Given the description of an element on the screen output the (x, y) to click on. 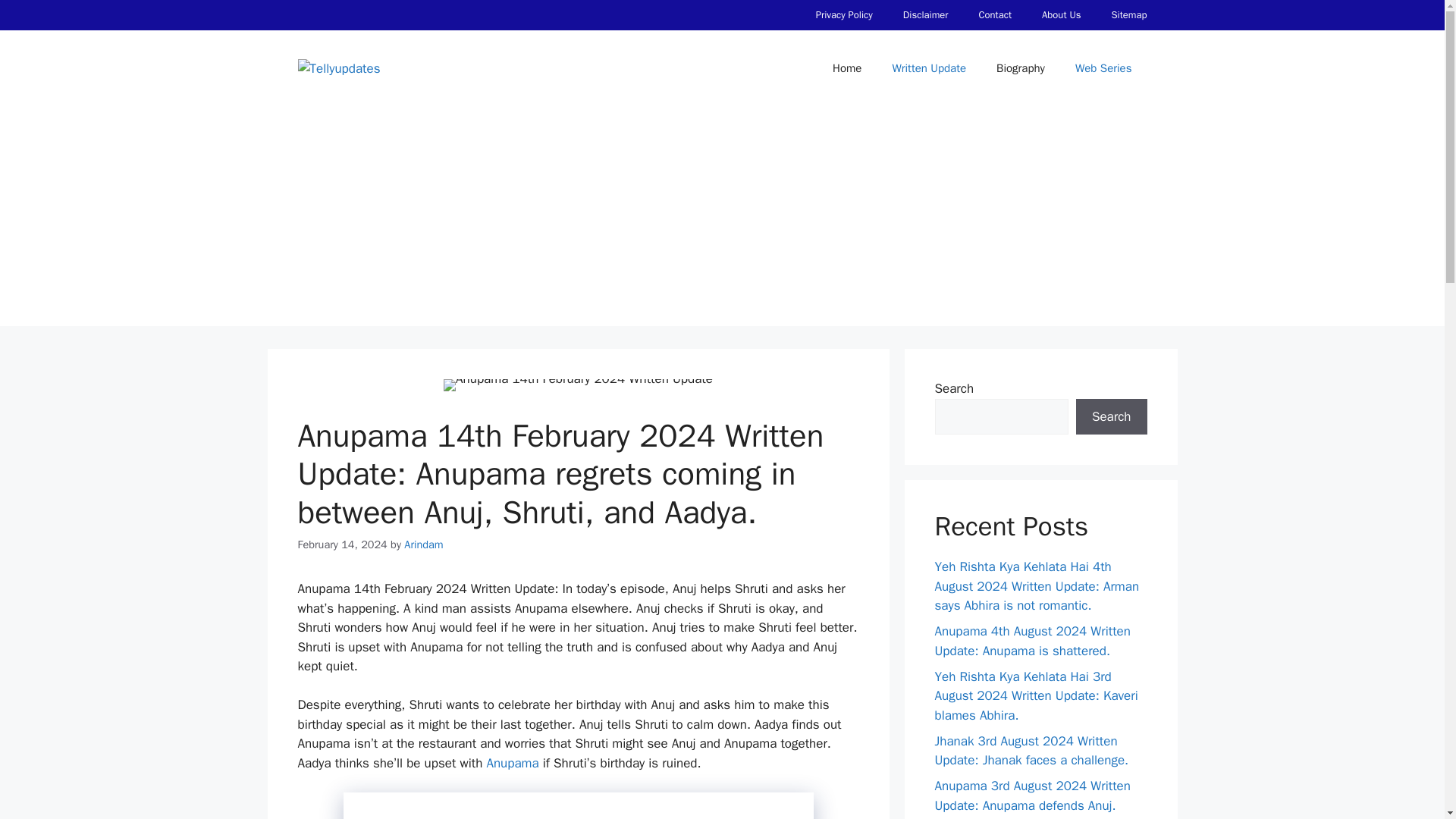
Privacy Policy (844, 15)
Contact (994, 15)
Disclaimer (925, 15)
Web Series (1103, 67)
Anupama (512, 763)
Sitemap (1128, 15)
Written Update (928, 67)
Search (1111, 416)
View all posts by Arindam (423, 544)
Biography (1020, 67)
